Given the description of an element on the screen output the (x, y) to click on. 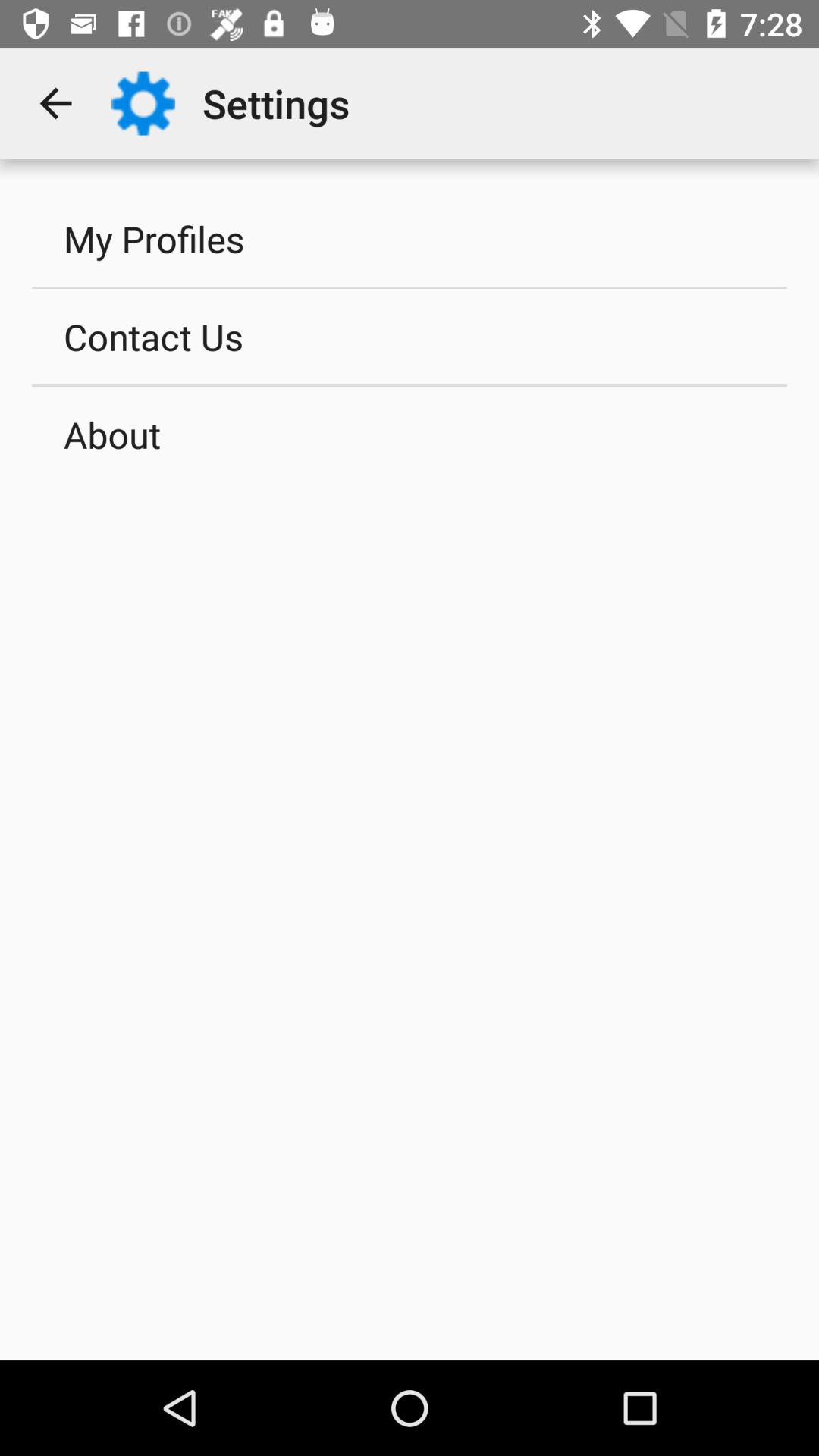
select the icon below contact us (409, 434)
